Given the description of an element on the screen output the (x, y) to click on. 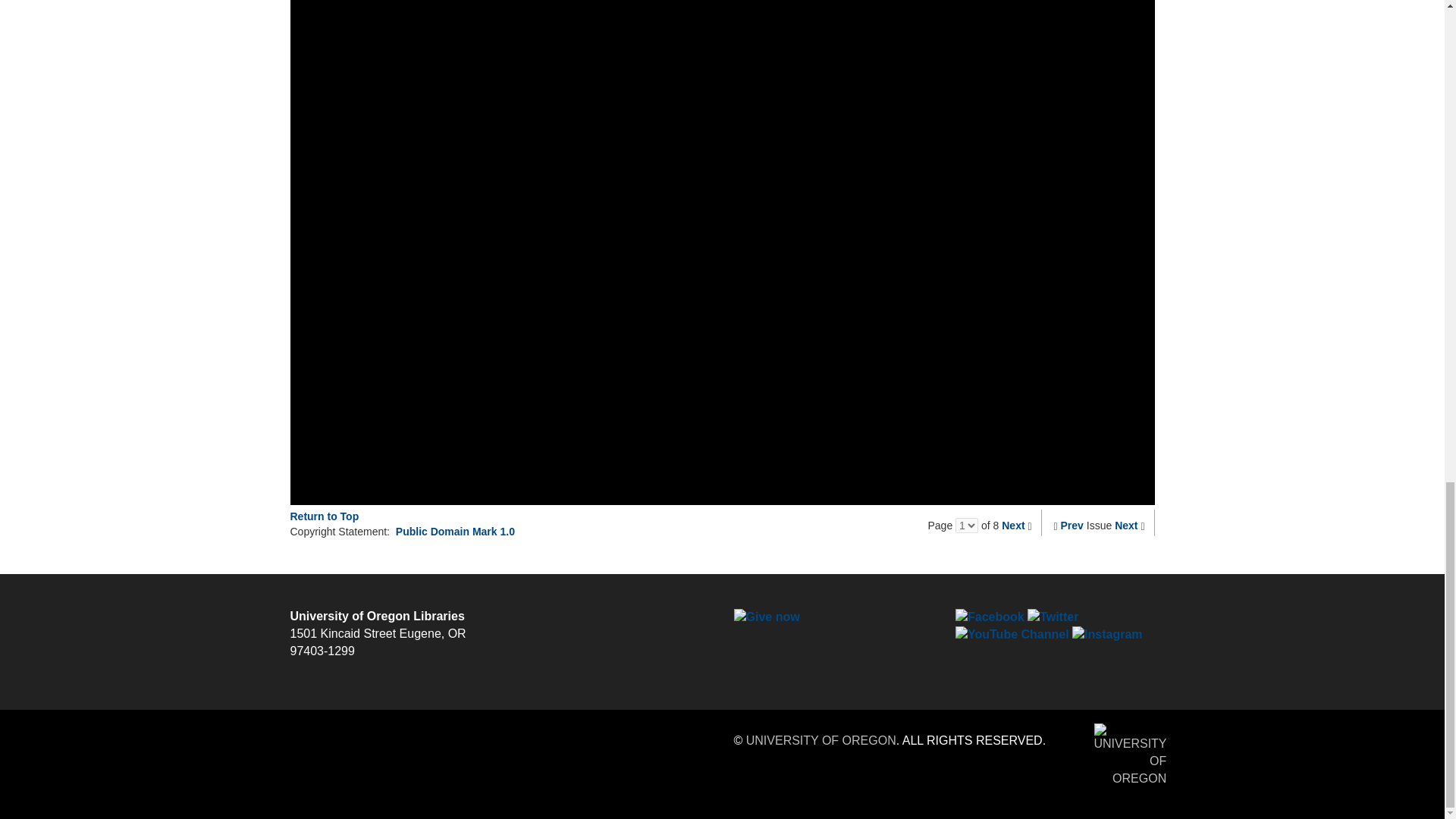
Prev (1072, 525)
Public Domain Mark 1.0 (455, 531)
Next (1013, 525)
Next (1126, 525)
Return to Top (323, 516)
